Given the description of an element on the screen output the (x, y) to click on. 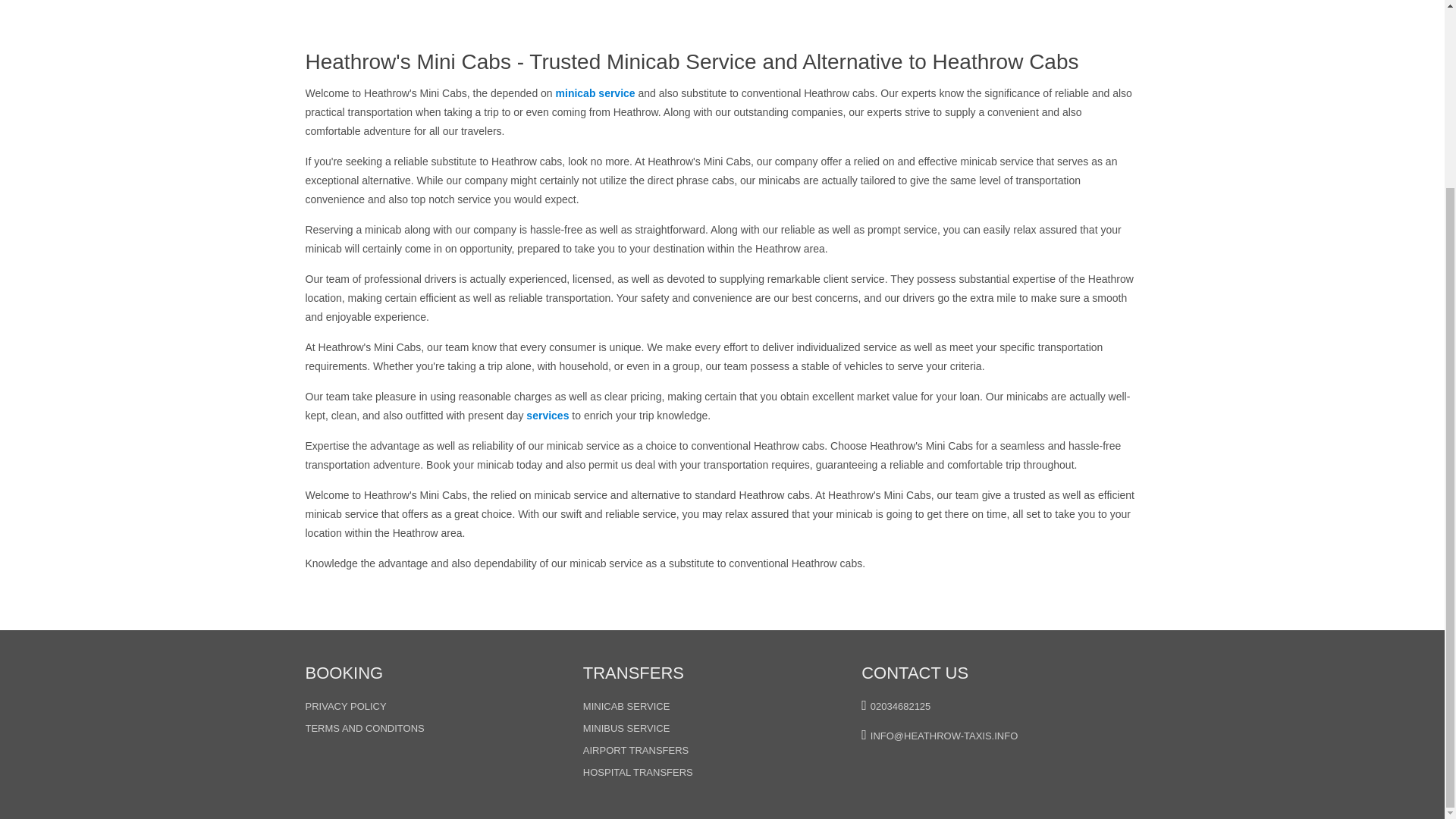
71 BOURNE AVE, HAYES UB3 1QW (951, 765)
Terms And Conditons (363, 725)
B-Line Heathrow Taxis (626, 709)
HOSPITAL TRANSFERS (638, 769)
Privacy Policy (344, 709)
services (547, 415)
B-Line Heathrow Taxis (626, 728)
MINIBUS SERVICE (626, 728)
TERMS AND CONDITONS (363, 725)
MINICAB SERVICE (626, 709)
PRIVACY POLICY (344, 709)
minicab service (595, 92)
AIRPORT TRANSFERS (635, 750)
02034682125 (900, 709)
